Given the description of an element on the screen output the (x, y) to click on. 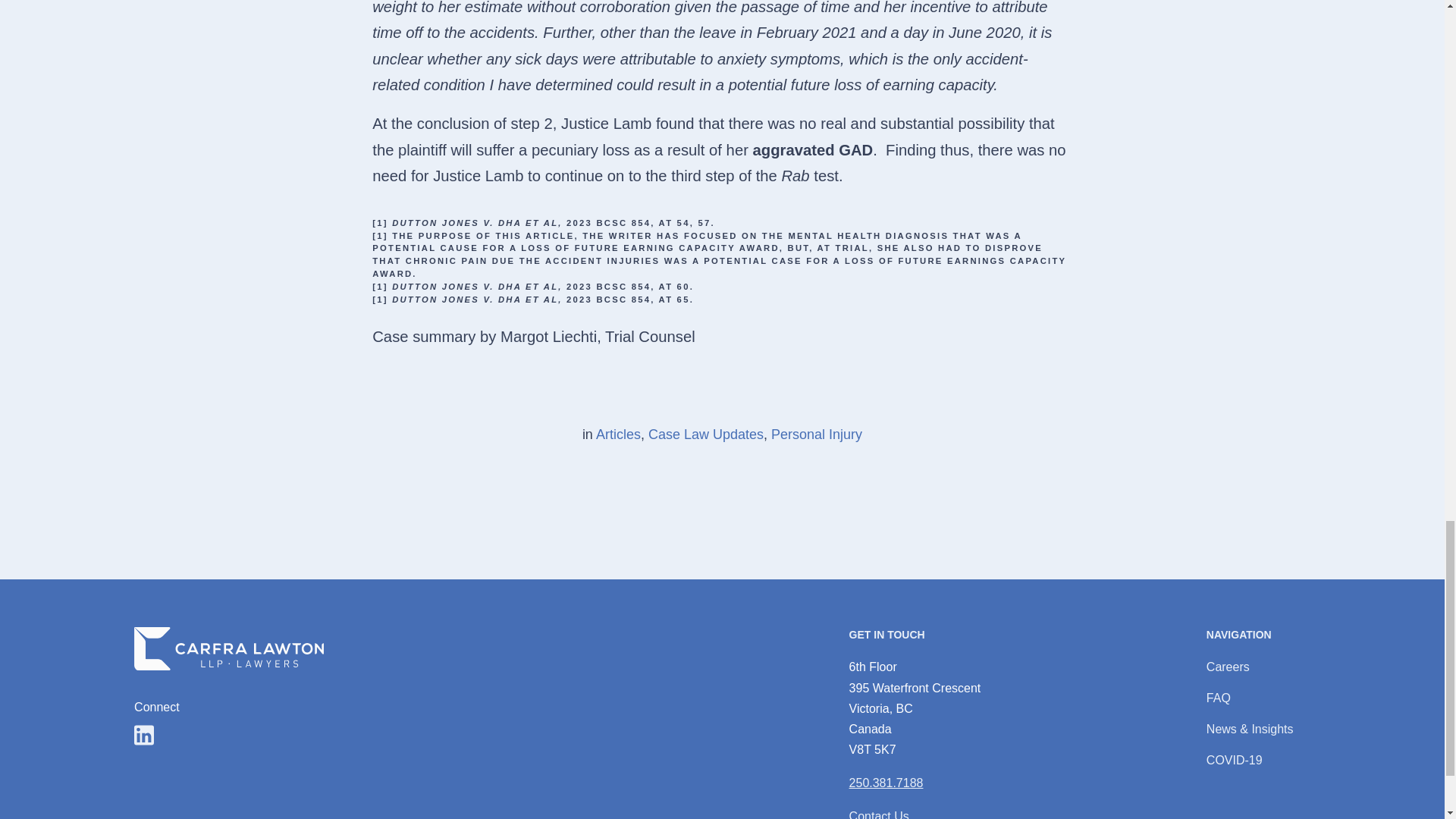
FAQ (1218, 697)
Case Law Updates (704, 434)
Careers (1228, 666)
COVID-19 (1234, 759)
Articles (617, 434)
Personal Injury (816, 434)
LinkedIn icon (143, 734)
250.381.7188 (885, 782)
Contact Us (878, 814)
